Given the description of an element on the screen output the (x, y) to click on. 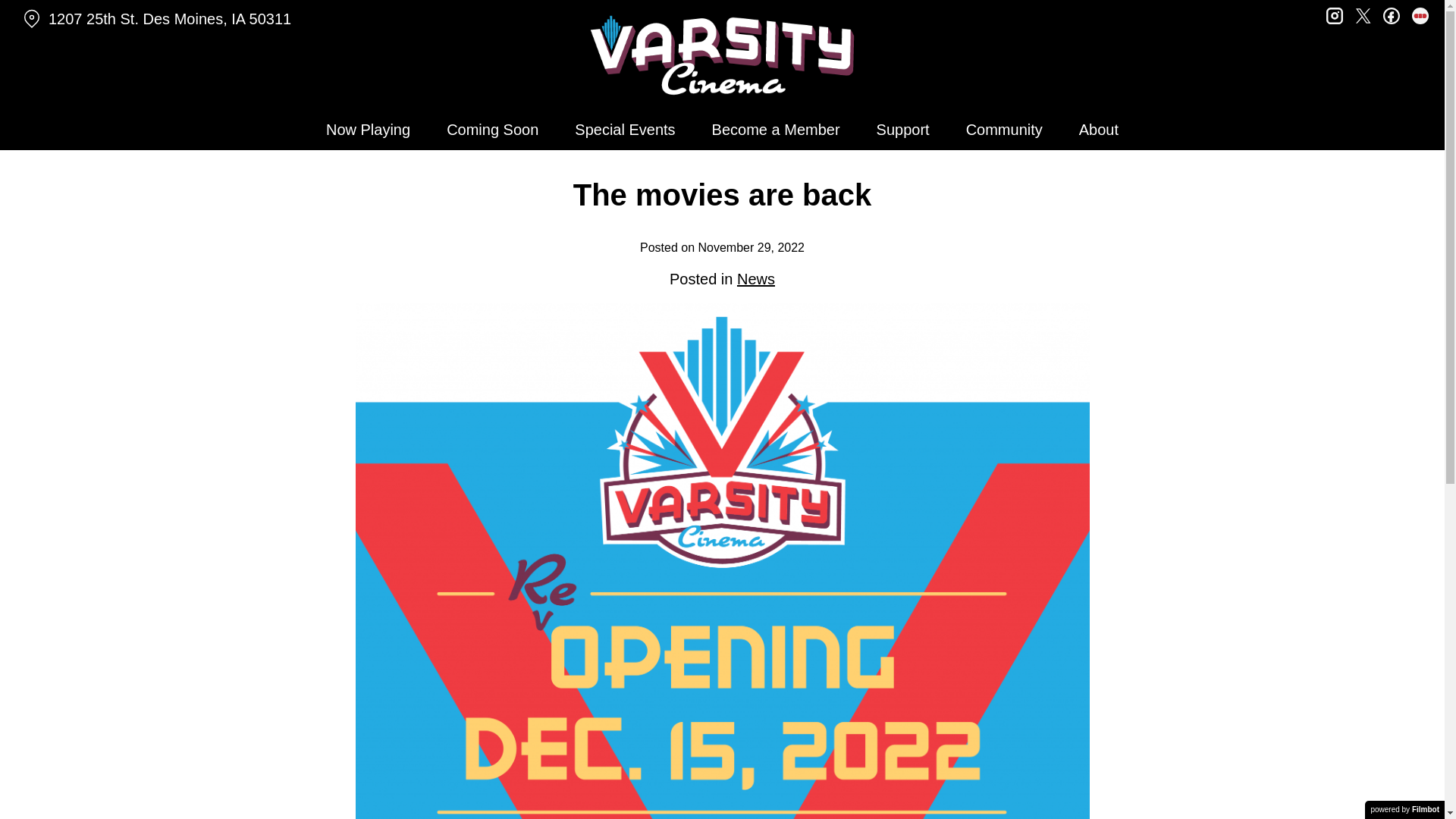
Now Playing (368, 128)
Coming Soon (491, 128)
Special Events (624, 128)
1207 25th St. Des Moines, IA 50311 (250, 18)
Community (1003, 128)
Become a Member (775, 128)
Support (903, 128)
About (1099, 128)
